Given the description of an element on the screen output the (x, y) to click on. 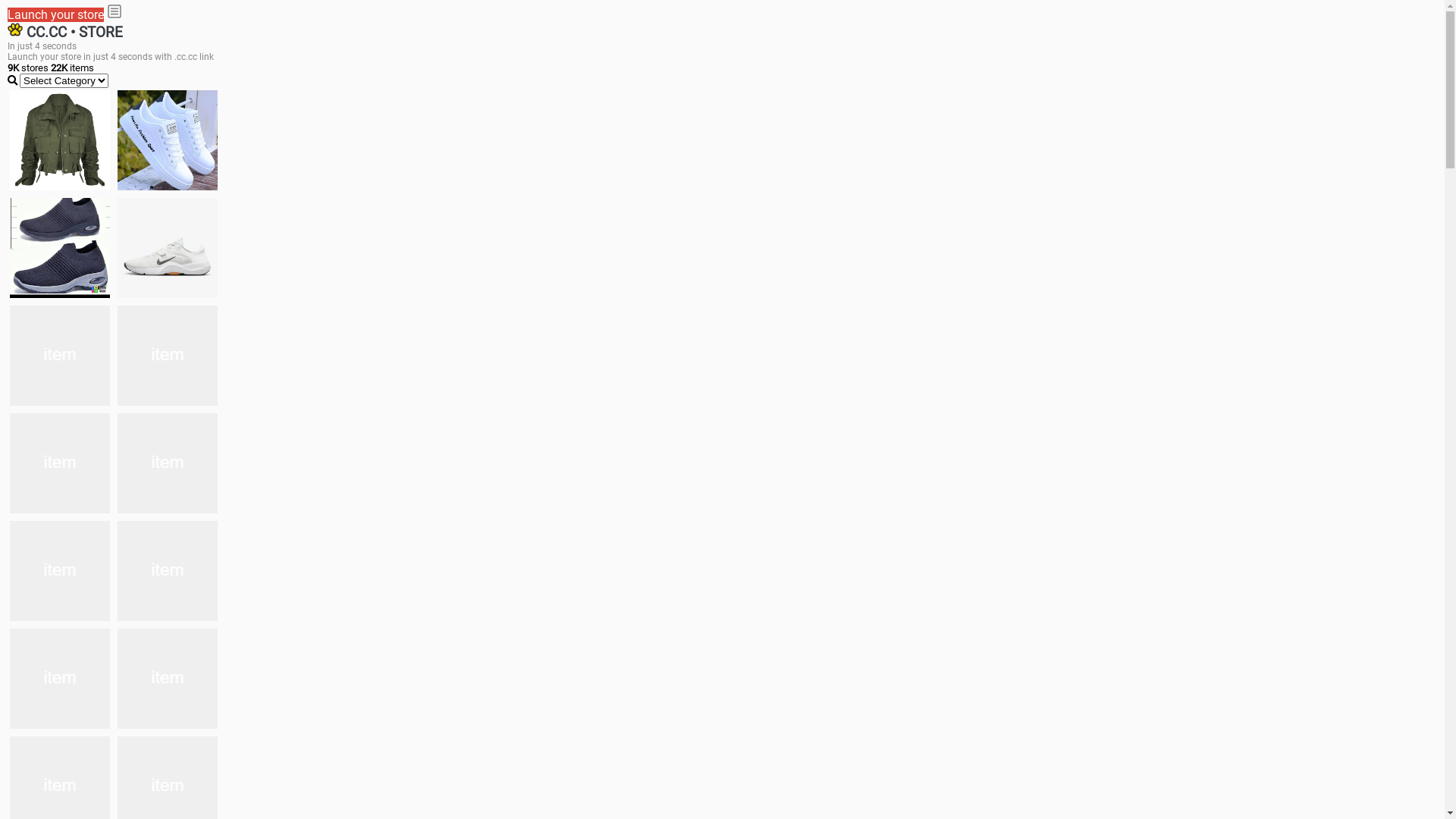
Short pant Element type: hover (167, 678)
white shoes Element type: hover (167, 140)
Shoes Element type: hover (167, 463)
Zapatillas Element type: hover (59, 678)
Dress/square nect top Element type: hover (59, 463)
Launch your store Element type: text (55, 14)
Zapatillas pumas Element type: hover (167, 570)
Shoes for boys Element type: hover (167, 247)
jacket Element type: hover (59, 140)
Things we need Element type: hover (59, 355)
Ukay cloth Element type: hover (167, 355)
shoes for boys Element type: hover (59, 247)
